Given the description of an element on the screen output the (x, y) to click on. 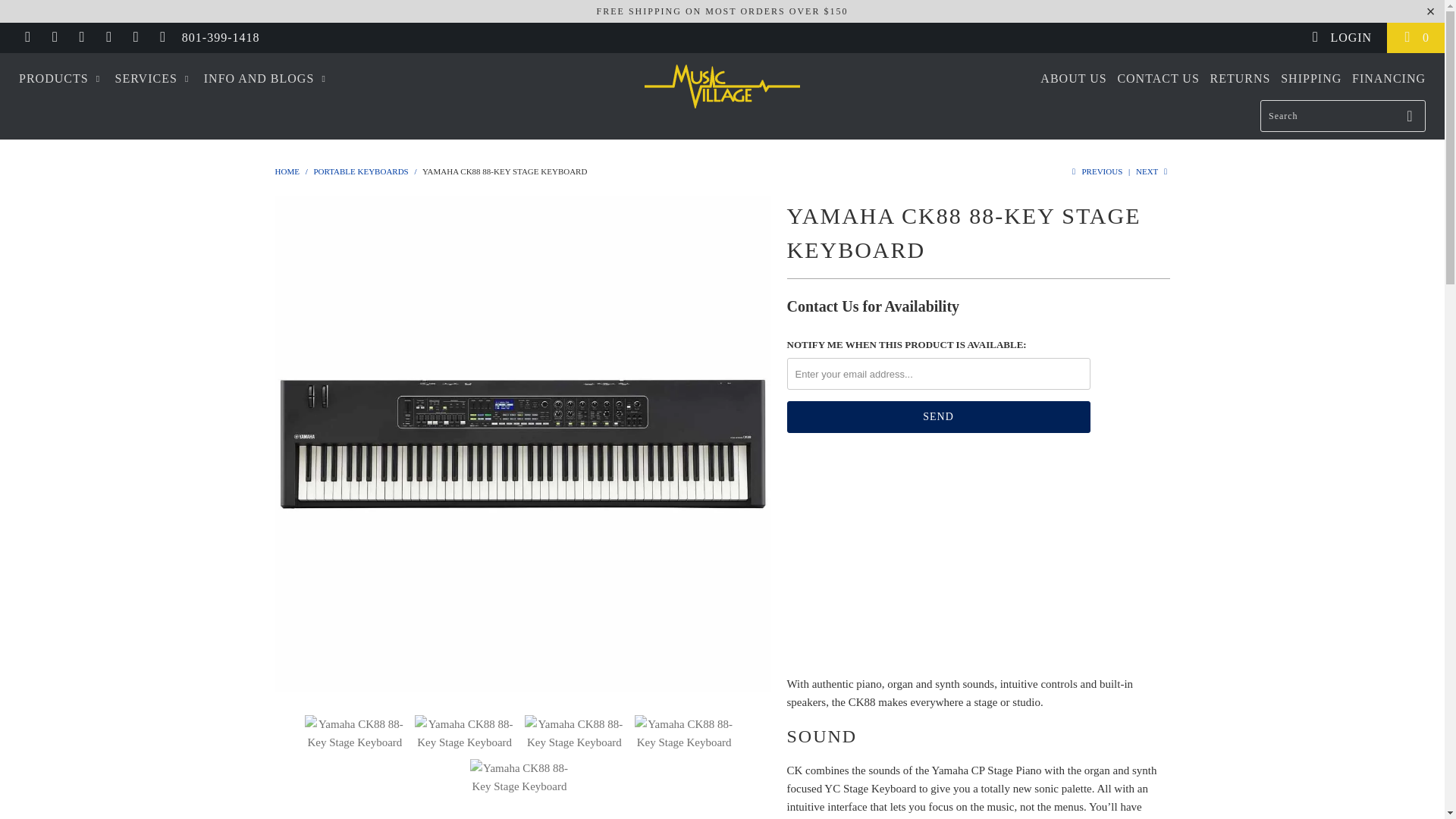
My Account  (1340, 37)
Portable Keyboards (360, 171)
Music Village USA (722, 86)
Previous (1095, 171)
Music Village USA (286, 171)
Music Village USA on Instagram (134, 37)
Music Village USA on Facebook (54, 37)
Music Village USA on YouTube (80, 37)
Next (1152, 171)
Music Village USA on Twitter (26, 37)
Music Village USA on Pinterest (108, 37)
Email Music Village USA (162, 37)
Send (938, 417)
